Given the description of an element on the screen output the (x, y) to click on. 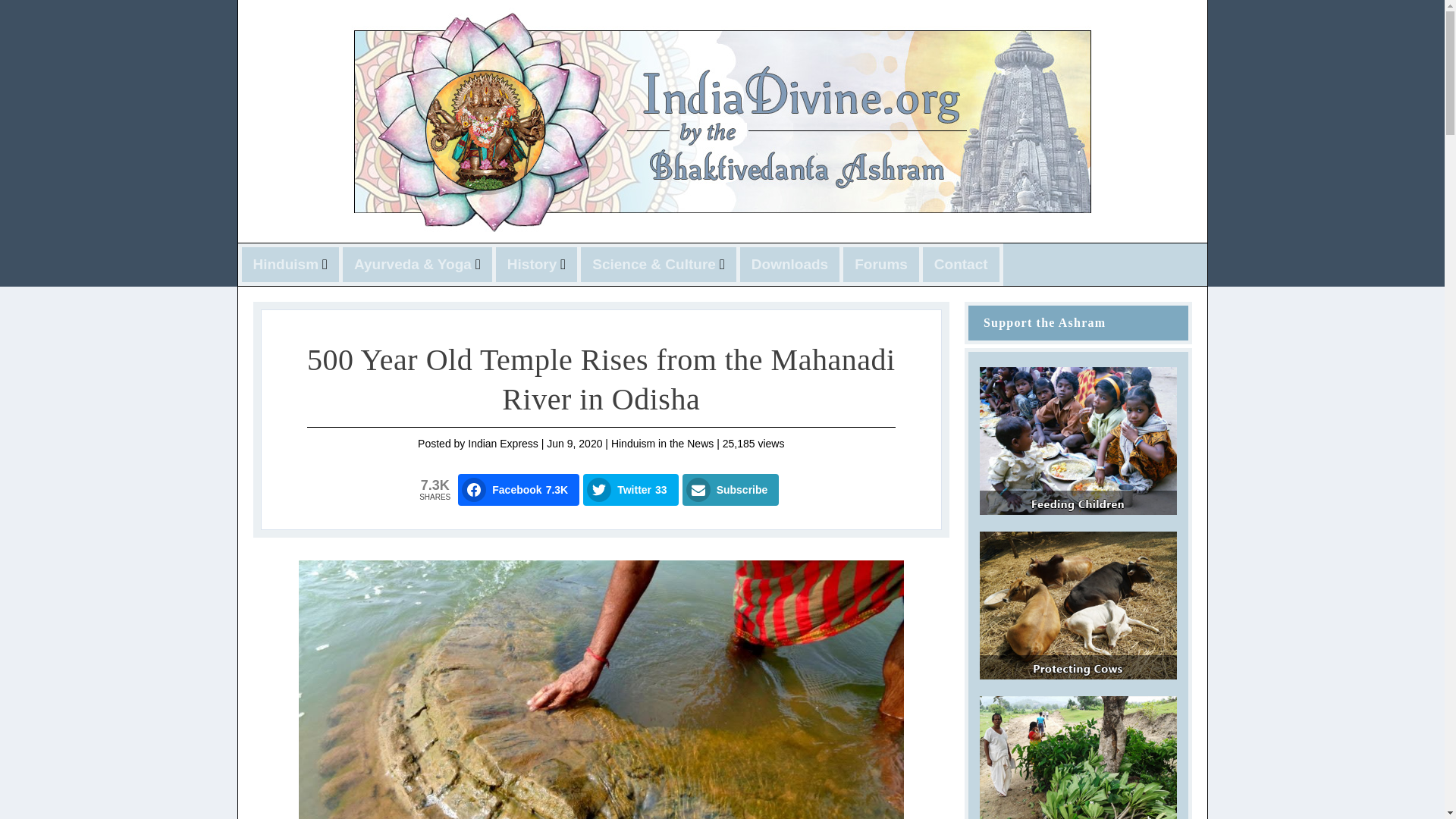
Share on Facebook (518, 490)
Hinduism (291, 264)
Share on Twitter (630, 490)
Share on Subscribe (730, 490)
Forums (880, 264)
Posts by Indian Express (502, 443)
Contact (961, 264)
History (536, 264)
Downloads (789, 264)
